Given the description of an element on the screen output the (x, y) to click on. 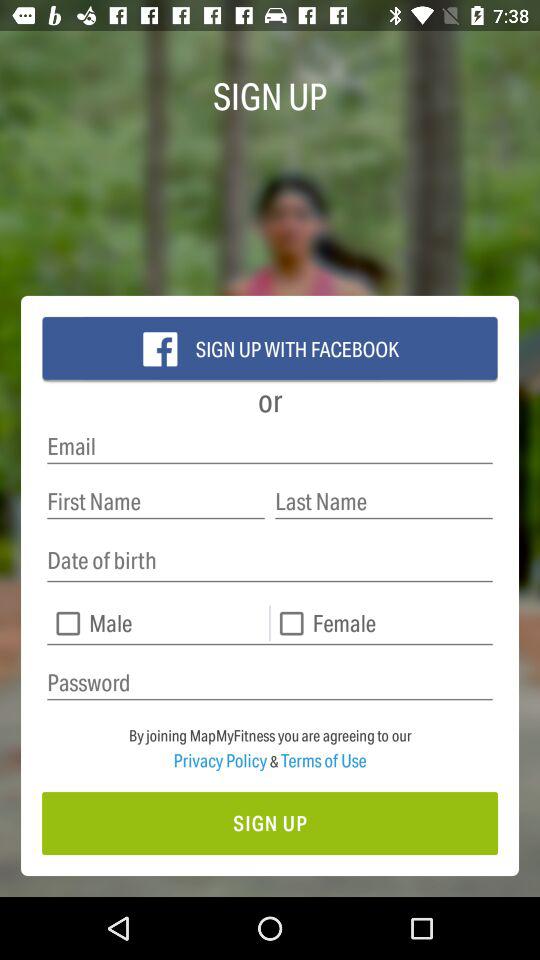
enter email (270, 446)
